Given the description of an element on the screen output the (x, y) to click on. 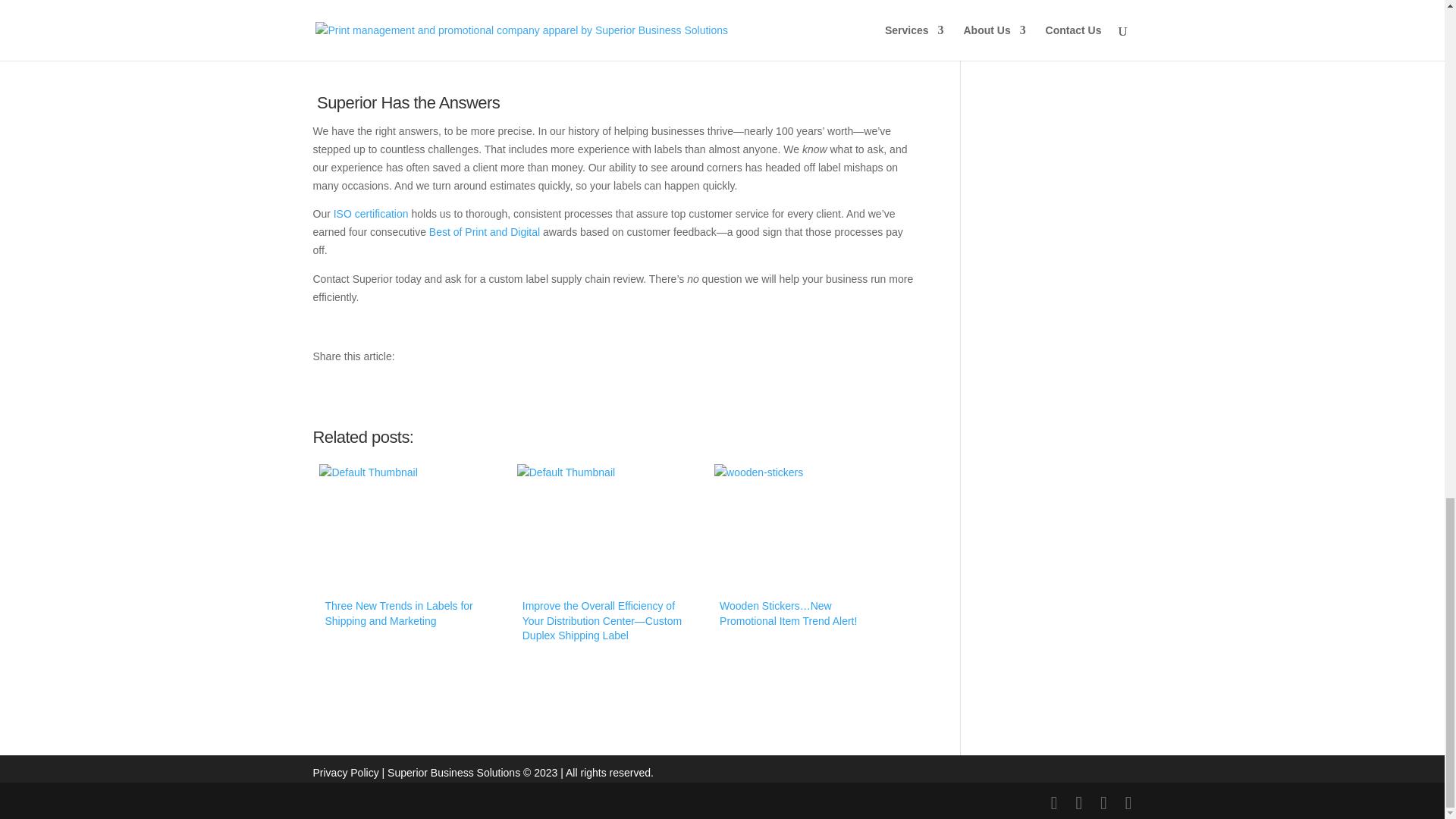
Privacy Policy (345, 772)
Three New Trends in Labels for Shipping and Marketing (409, 551)
Best of Print and Digital (484, 232)
Three New Trends in Labels for Shipping and Marketing (409, 551)
ISO certification (371, 214)
